Given the description of an element on the screen output the (x, y) to click on. 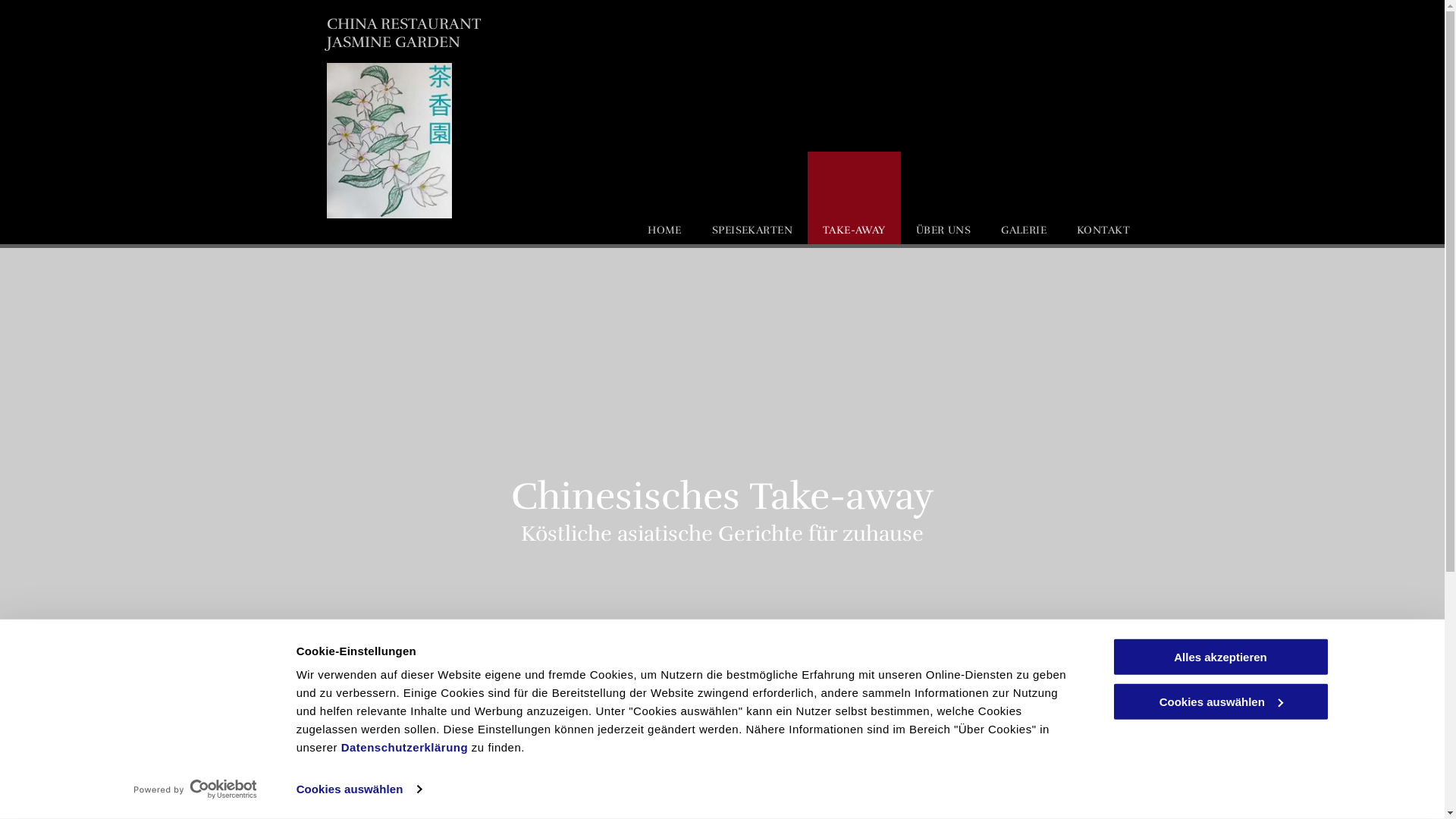
GALERIE Element type: text (1023, 197)
Alles akzeptieren Element type: text (1219, 656)
CHINA RESTAURANT Element type: text (403, 23)
JASMINE GARDEN Element type: text (393, 41)
TAKE-AWAY Element type: text (853, 197)
SPEISEKARTEN Element type: text (751, 197)
KONTAKT Element type: text (1103, 197)
HOME Element type: text (664, 197)
